Given the description of an element on the screen output the (x, y) to click on. 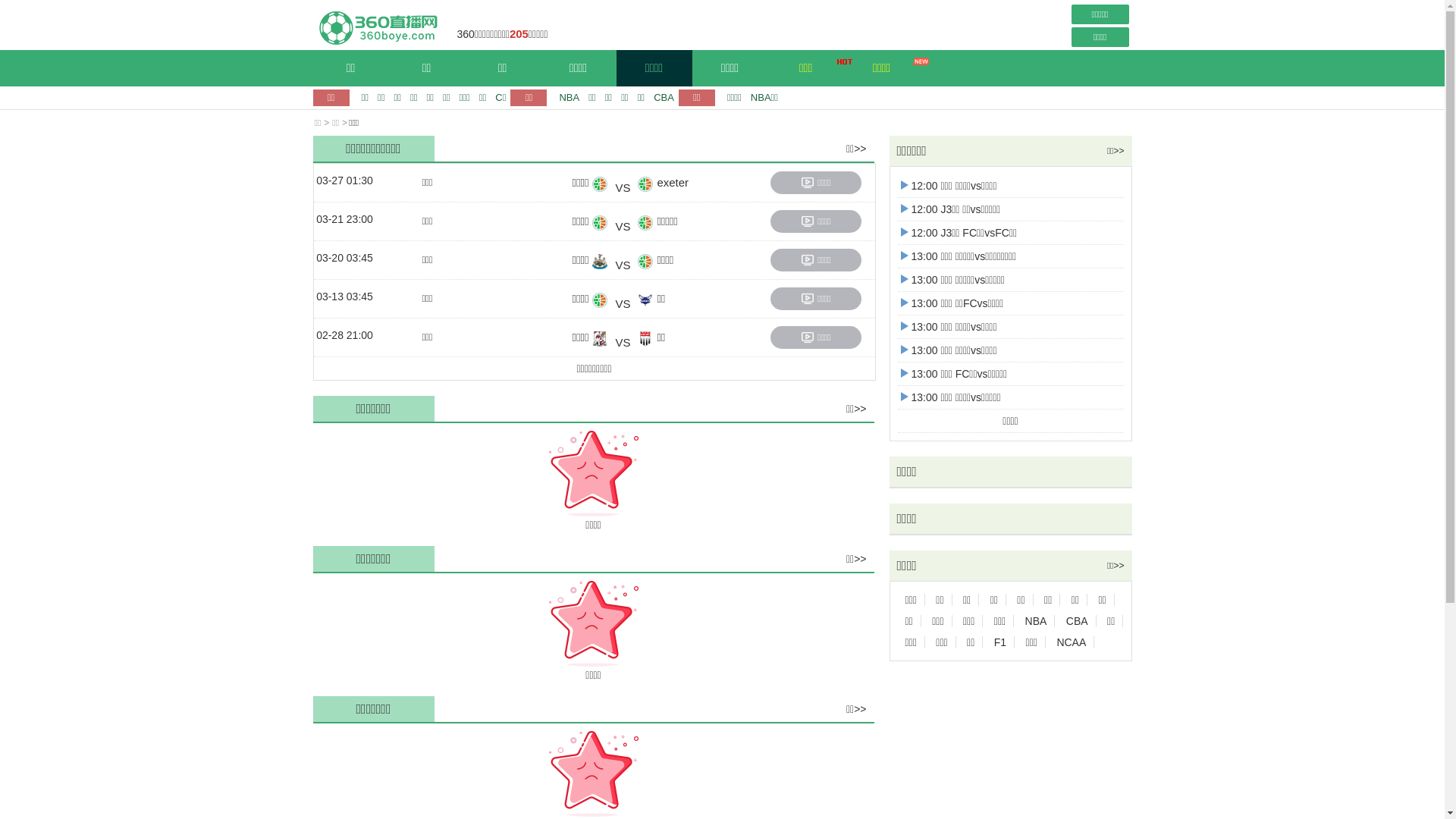
CBA Element type: text (1077, 621)
NBA Element type: text (568, 97)
exeter Element type: text (694, 187)
F1 Element type: text (1000, 642)
NBA Element type: text (1036, 621)
CBA Element type: text (663, 97)
NCAA Element type: text (1071, 642)
